Given the description of an element on the screen output the (x, y) to click on. 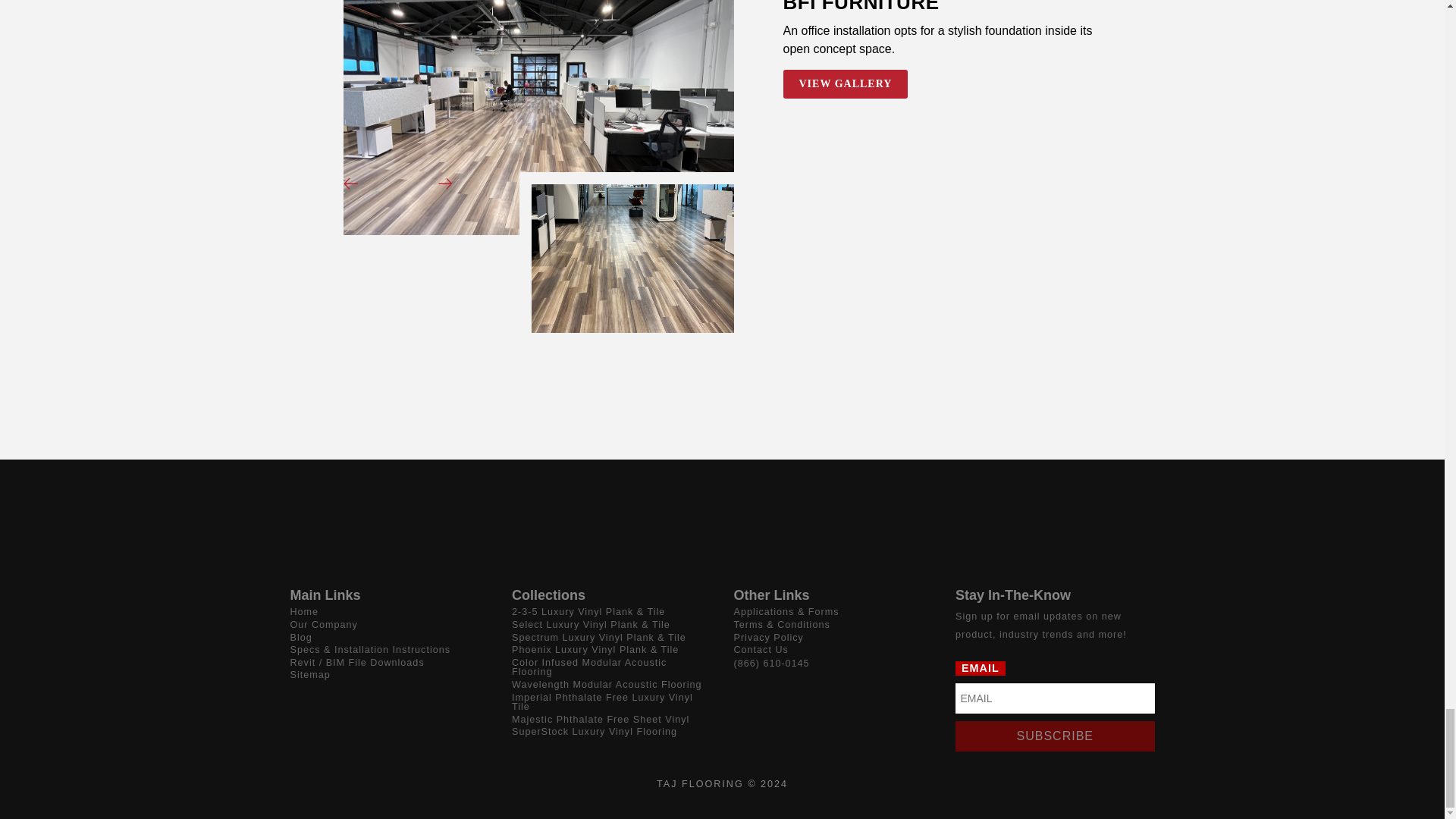
SUBSCRIBE (1054, 736)
